Given the description of an element on the screen output the (x, y) to click on. 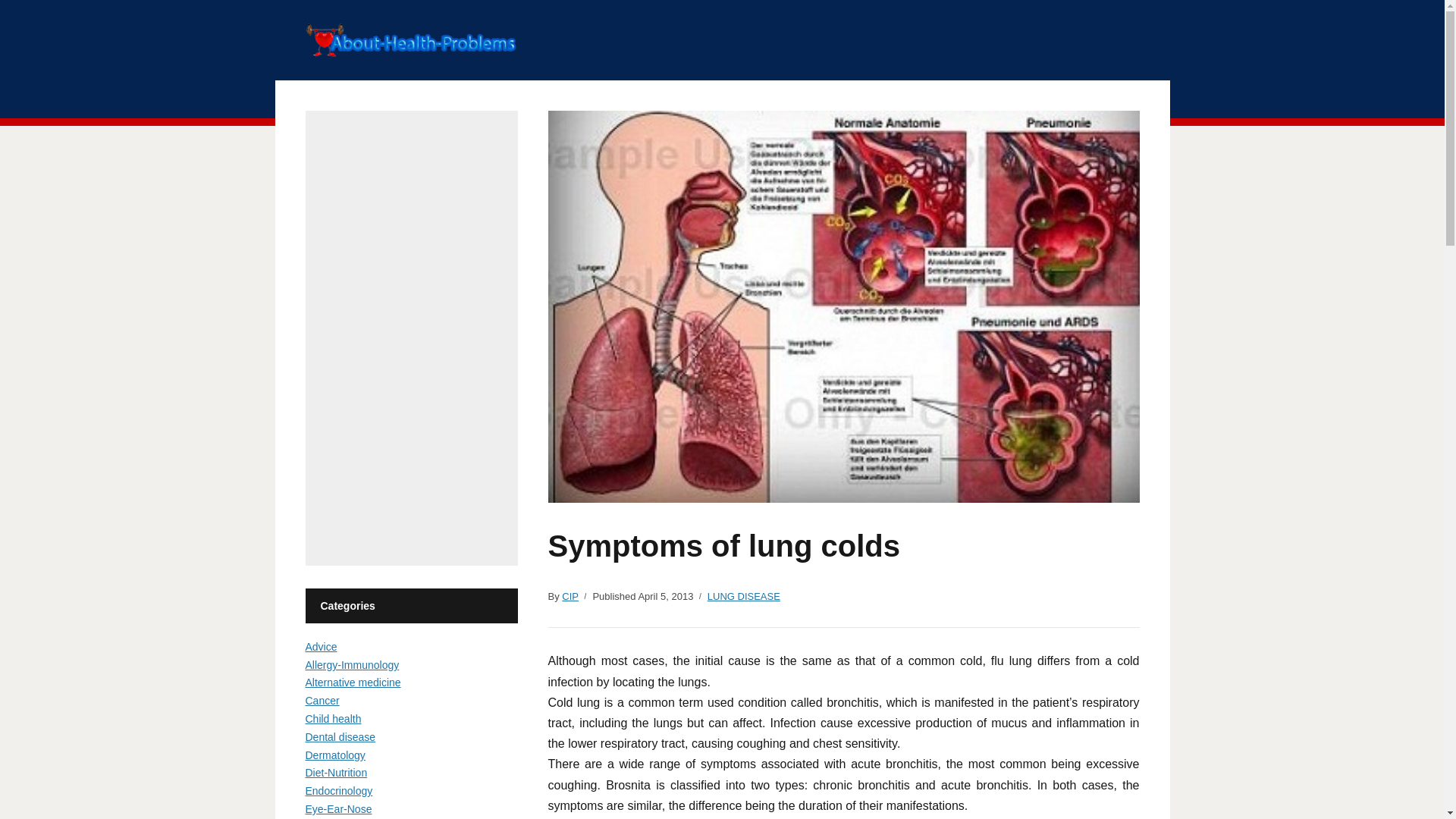
Child health (332, 718)
Advertisement (410, 337)
Advice (320, 646)
Posts by cip (570, 596)
CIP (570, 596)
Allergy-Immunology (351, 664)
Dermatology (334, 755)
LUNG DISEASE (743, 596)
Diet-Nutrition (335, 772)
Alternative medicine (352, 682)
Eye-Ear-Nose (337, 808)
Endocrinology (338, 790)
Dental disease (339, 736)
Cancer (321, 700)
